Given the description of an element on the screen output the (x, y) to click on. 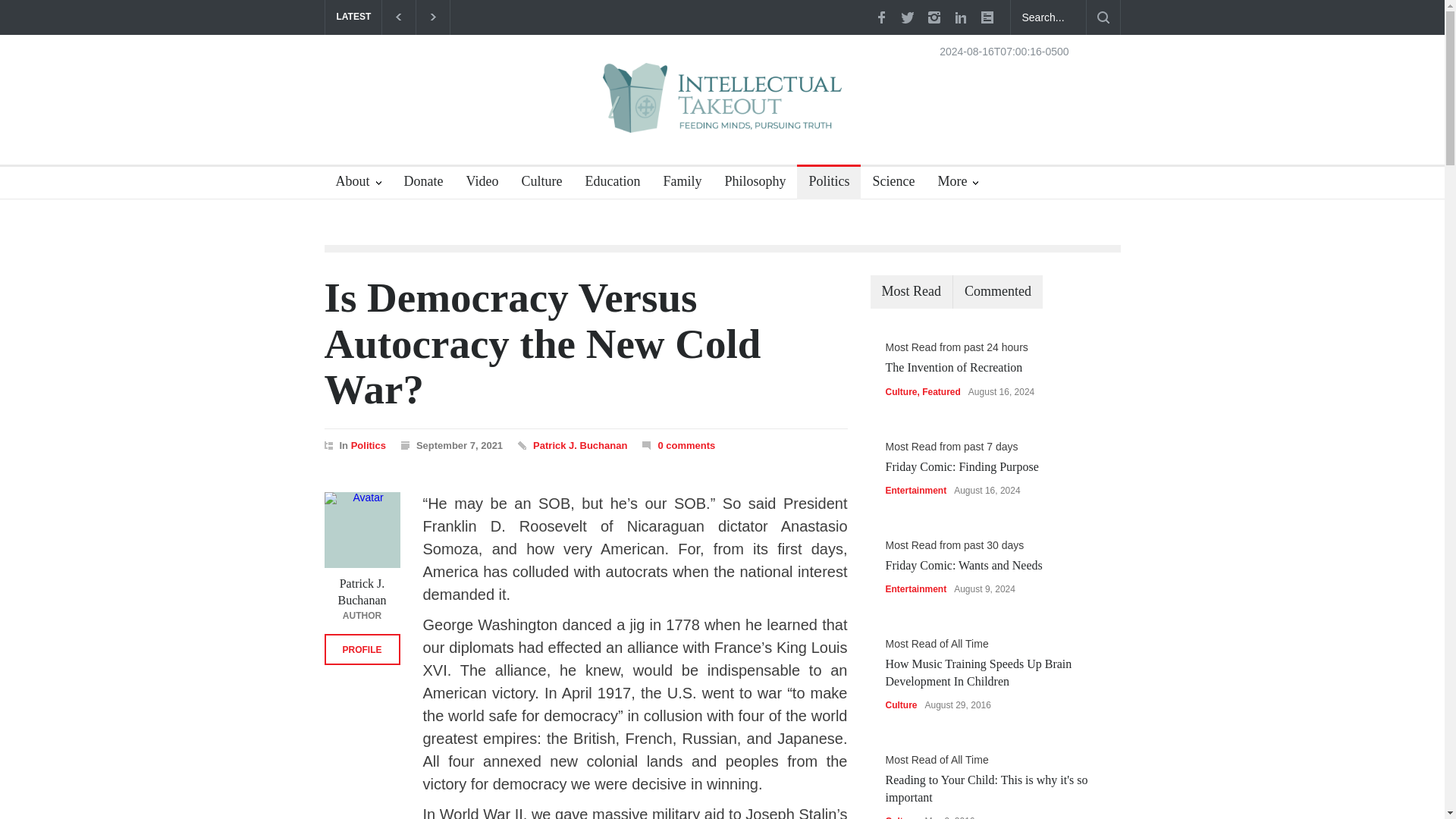
0 comments (678, 445)
0 comments (686, 445)
Video (475, 183)
0 comments (686, 445)
Science (887, 183)
Patrick J. Buchanan (579, 445)
2024-08-16T07:00:16-0500 (1003, 50)
Patrick J. Buchanan (362, 530)
